Given the description of an element on the screen output the (x, y) to click on. 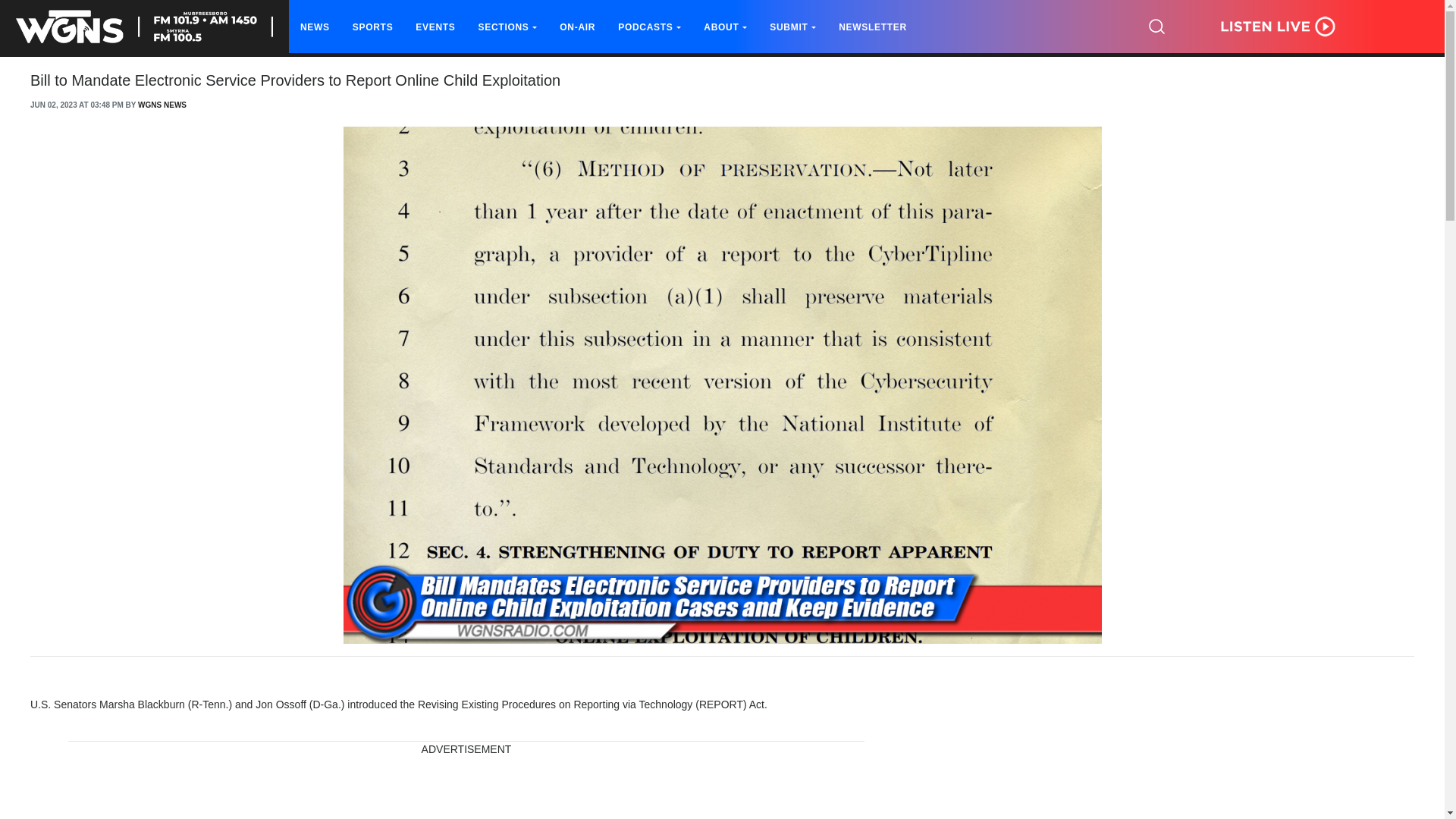
SPORTS (372, 27)
SECTIONS (508, 27)
EVENTS (434, 27)
NEWS (314, 27)
PODCASTS (649, 27)
ON-AIR (577, 27)
Advertisement (466, 788)
